Given the description of an element on the screen output the (x, y) to click on. 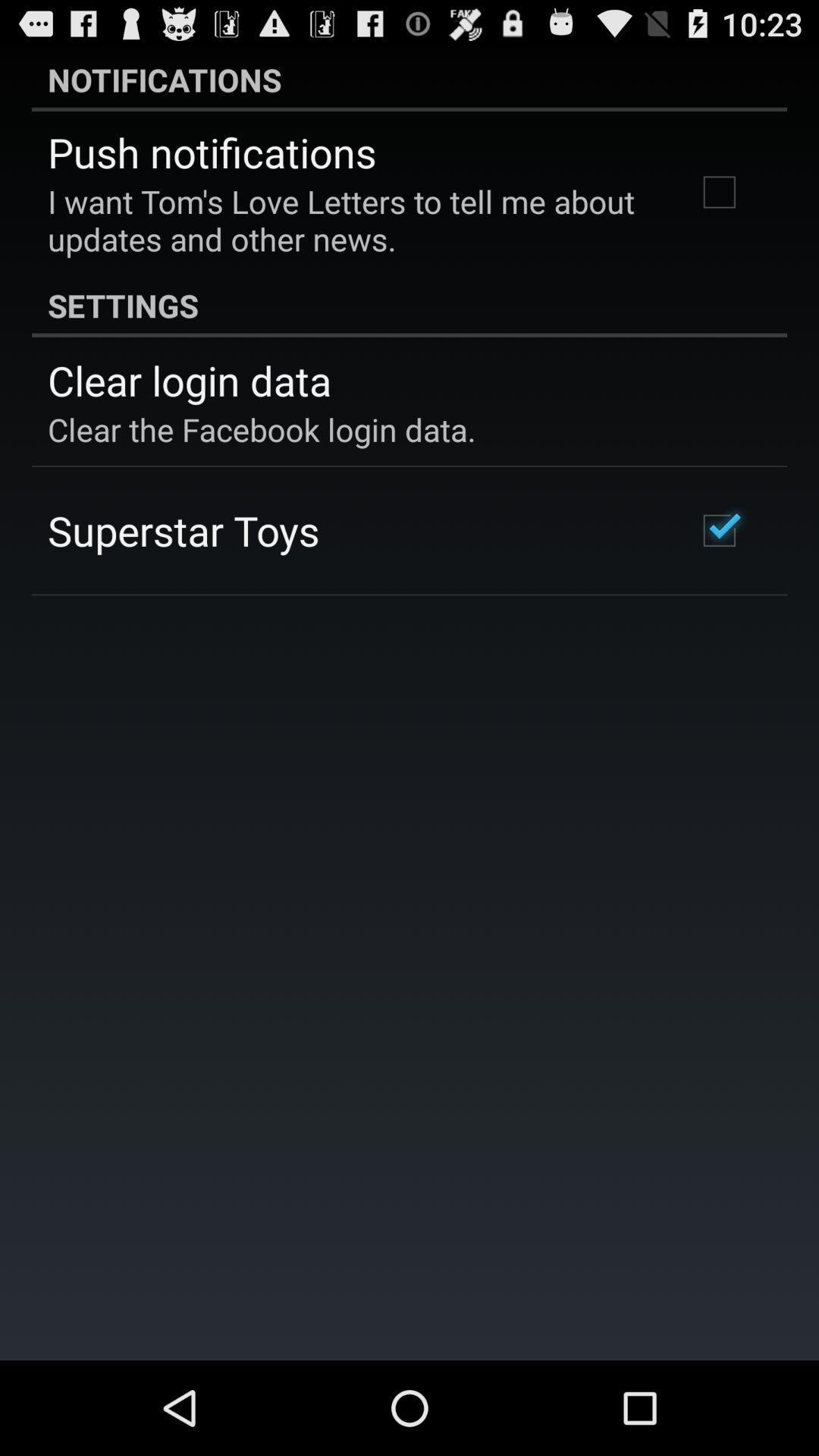
launch the superstar toys app (183, 529)
